Given the description of an element on the screen output the (x, y) to click on. 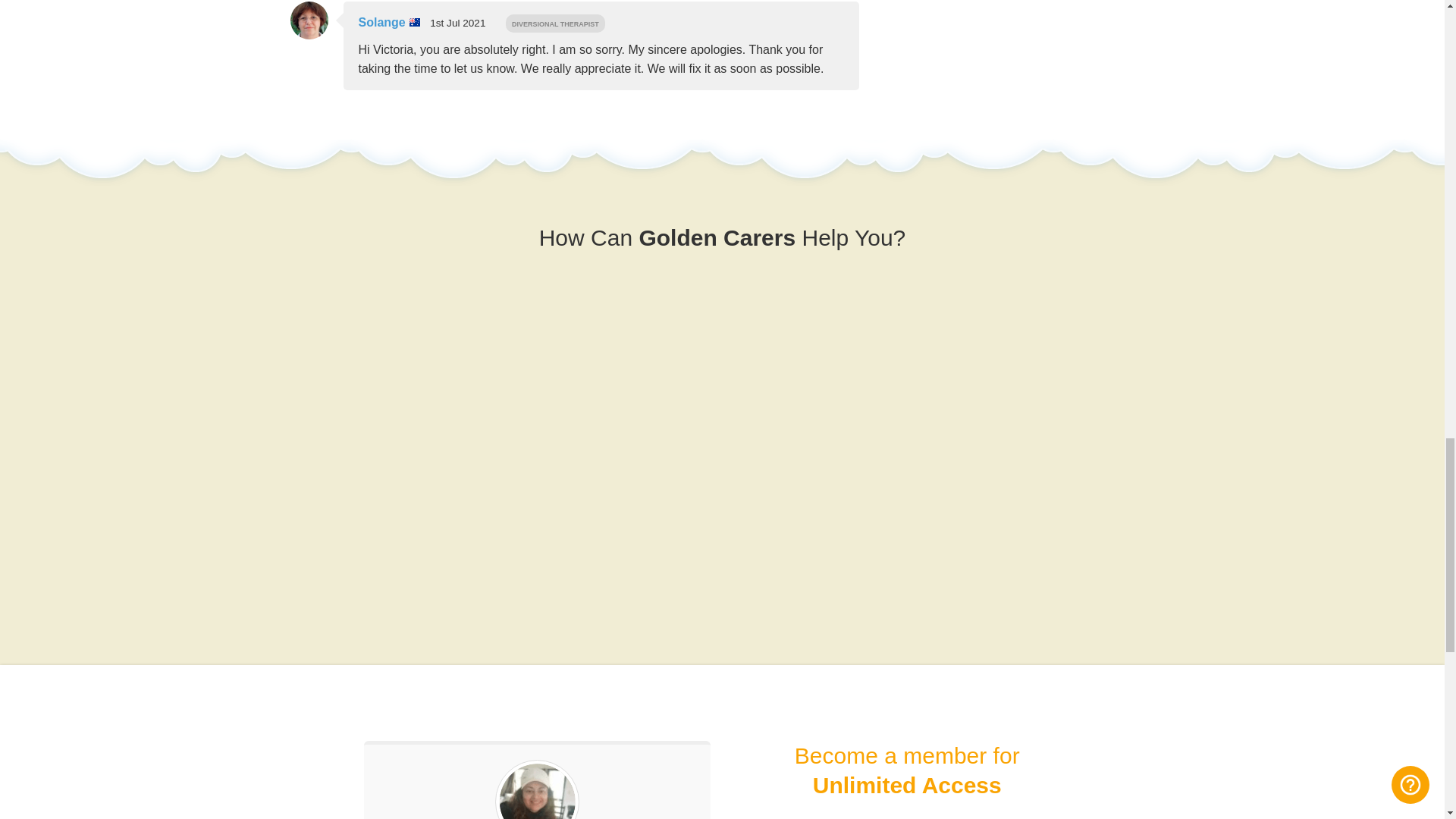
solange (389, 22)
